Given the description of an element on the screen output the (x, y) to click on. 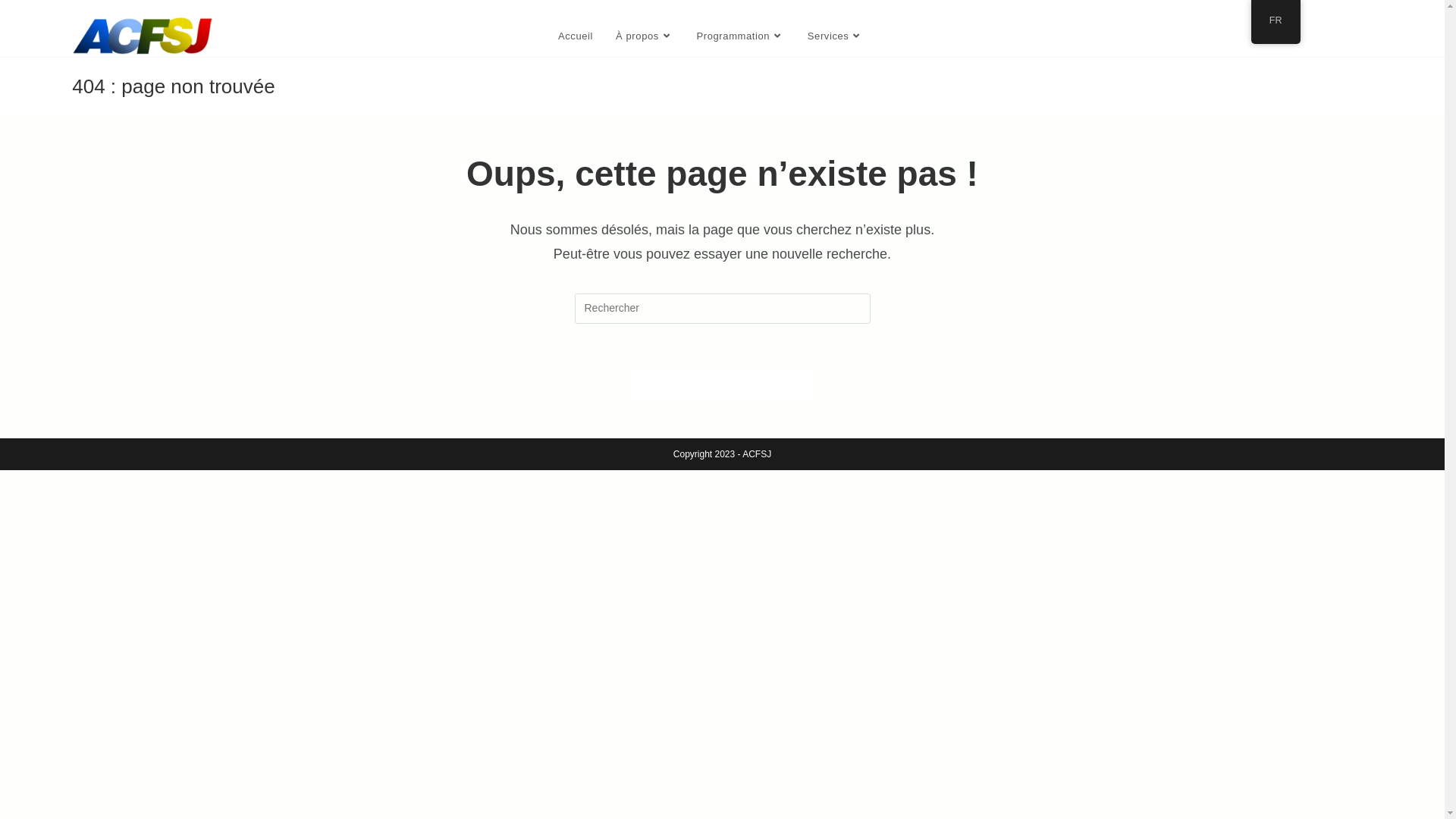
Services Element type: text (835, 35)
FR Element type: text (1275, 21)
FR Element type: text (1275, 20)
Accueil Element type: text (575, 35)
Programmation Element type: text (740, 35)
